Given the description of an element on the screen output the (x, y) to click on. 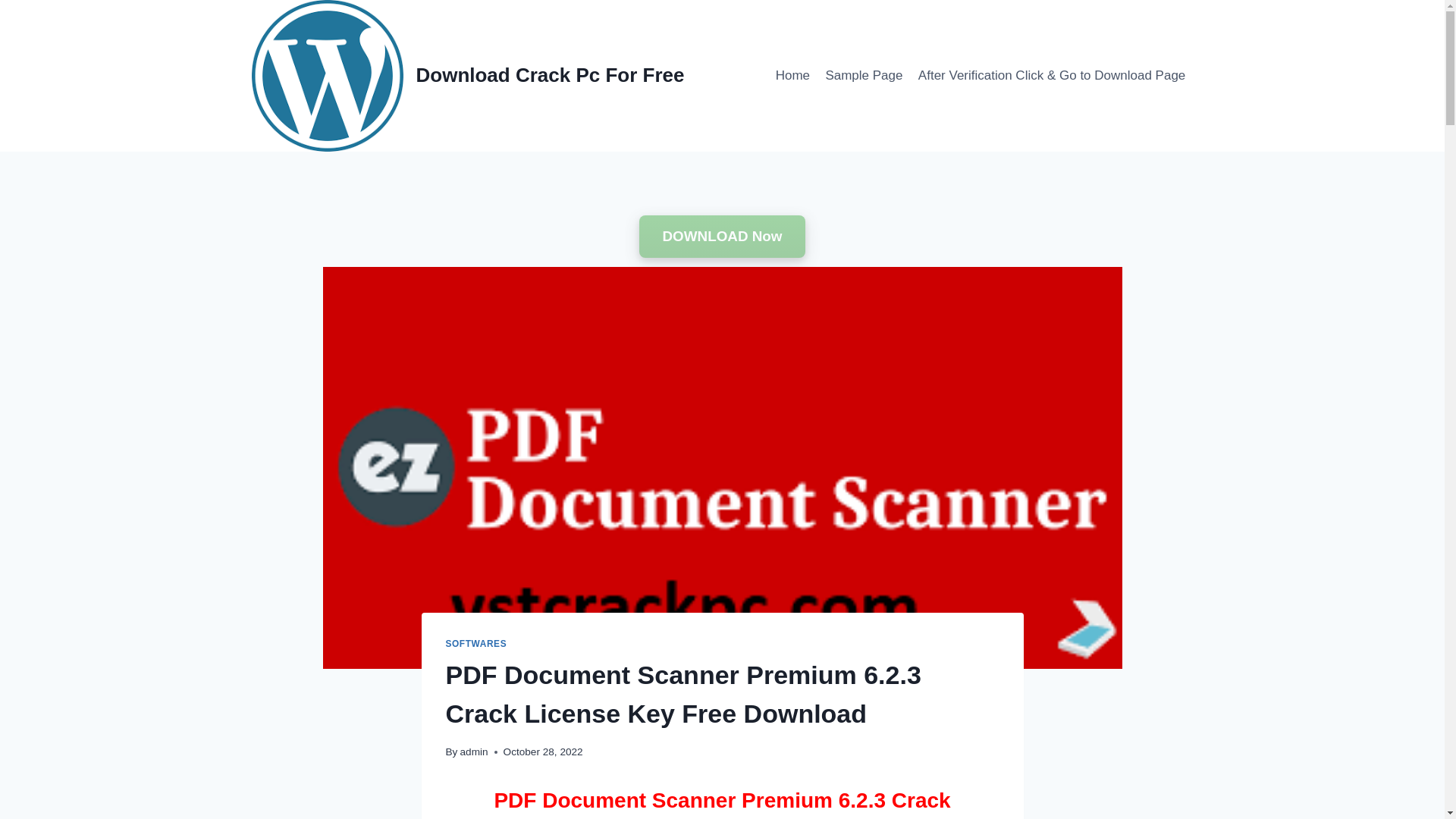
Home (791, 75)
Sample Page (863, 75)
Download Crack Pc For Free (467, 75)
admin (473, 751)
DOWNLOAD Now (721, 237)
DOWNLOAD Now (722, 236)
SOFTWARES (475, 643)
